Given the description of an element on the screen output the (x, y) to click on. 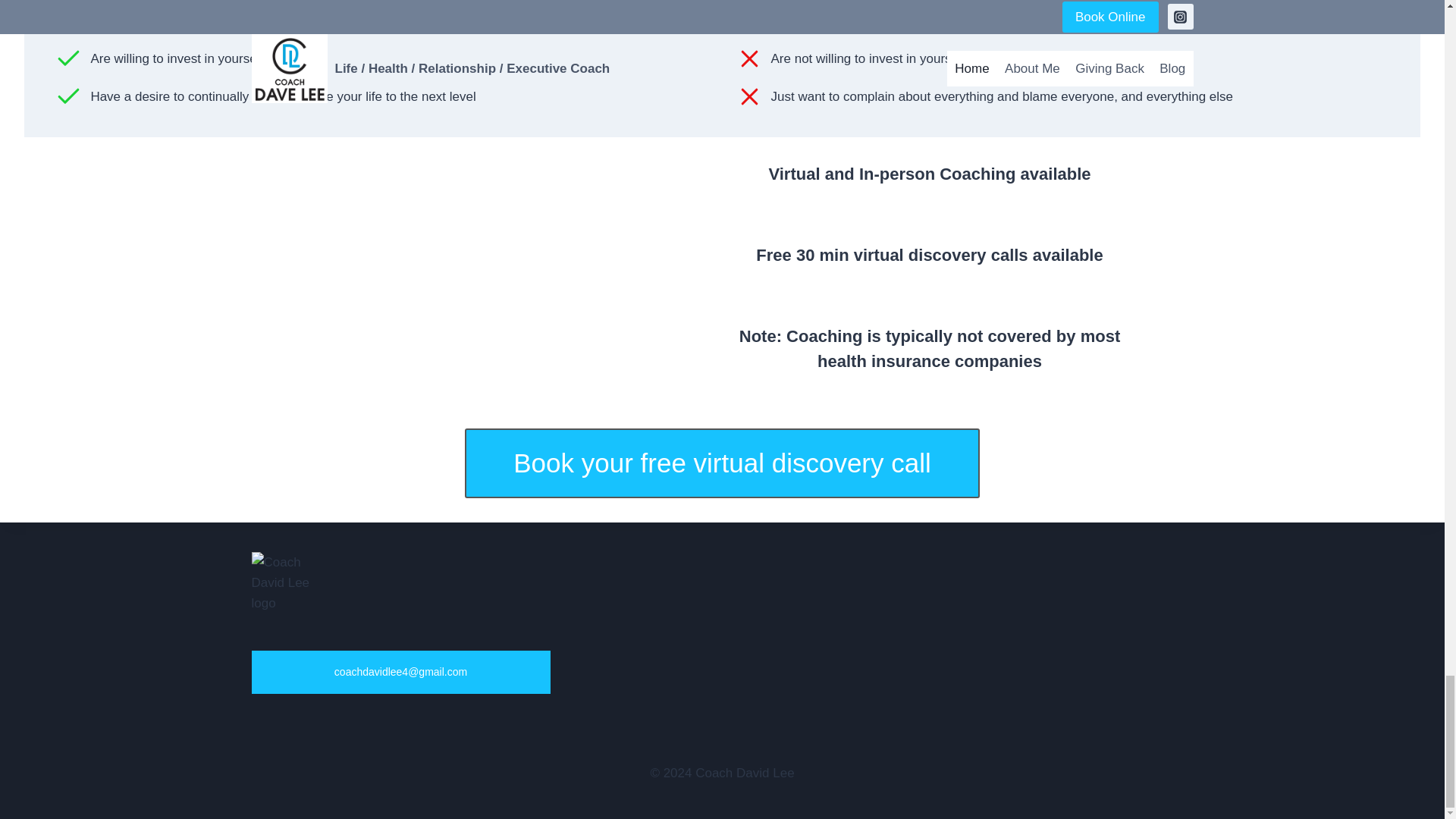
Book your free virtual discovery call (721, 462)
Is Coaching Worth The Money? (514, 270)
